Given the description of an element on the screen output the (x, y) to click on. 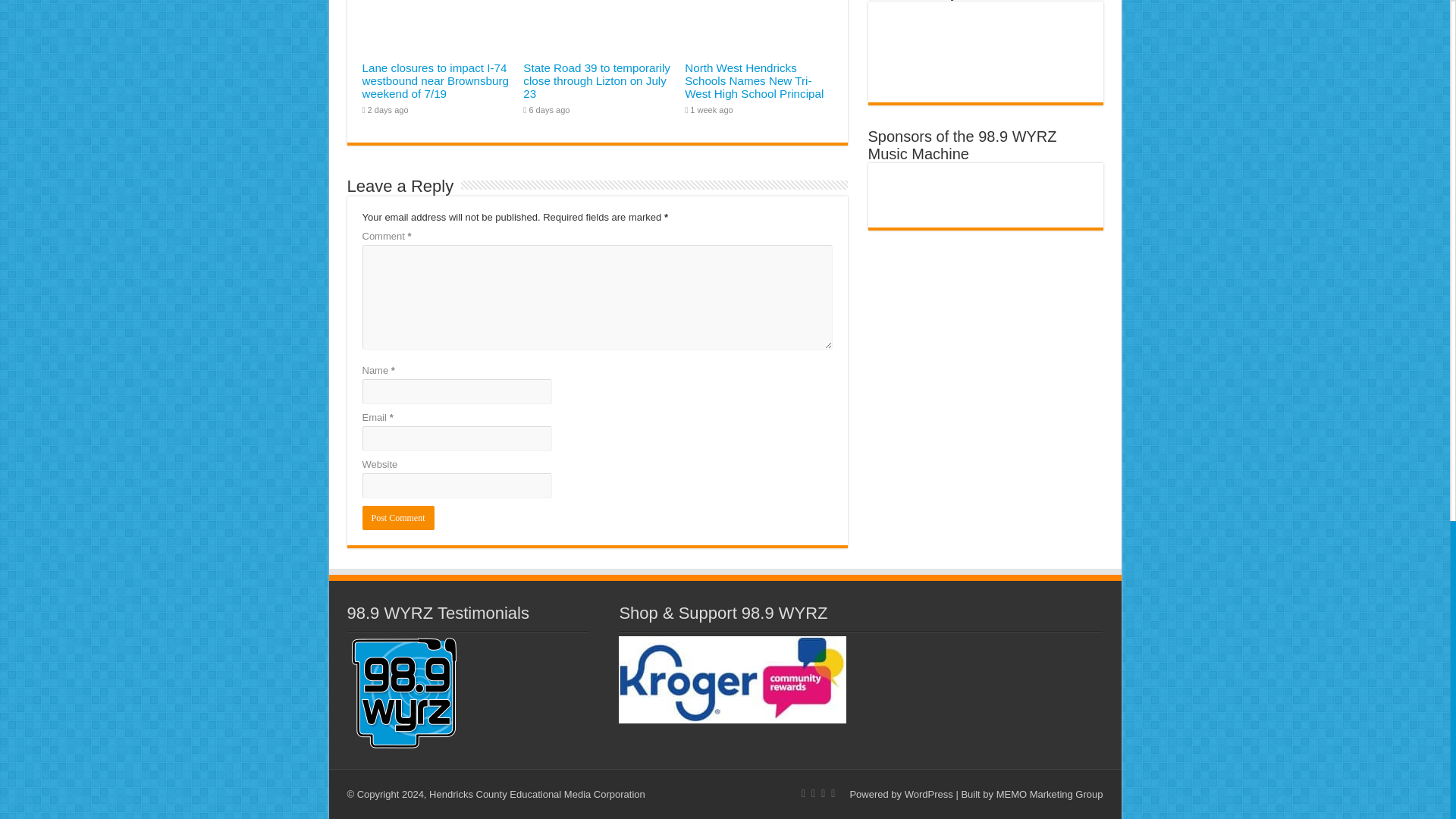
Post Comment (397, 517)
